Given the description of an element on the screen output the (x, y) to click on. 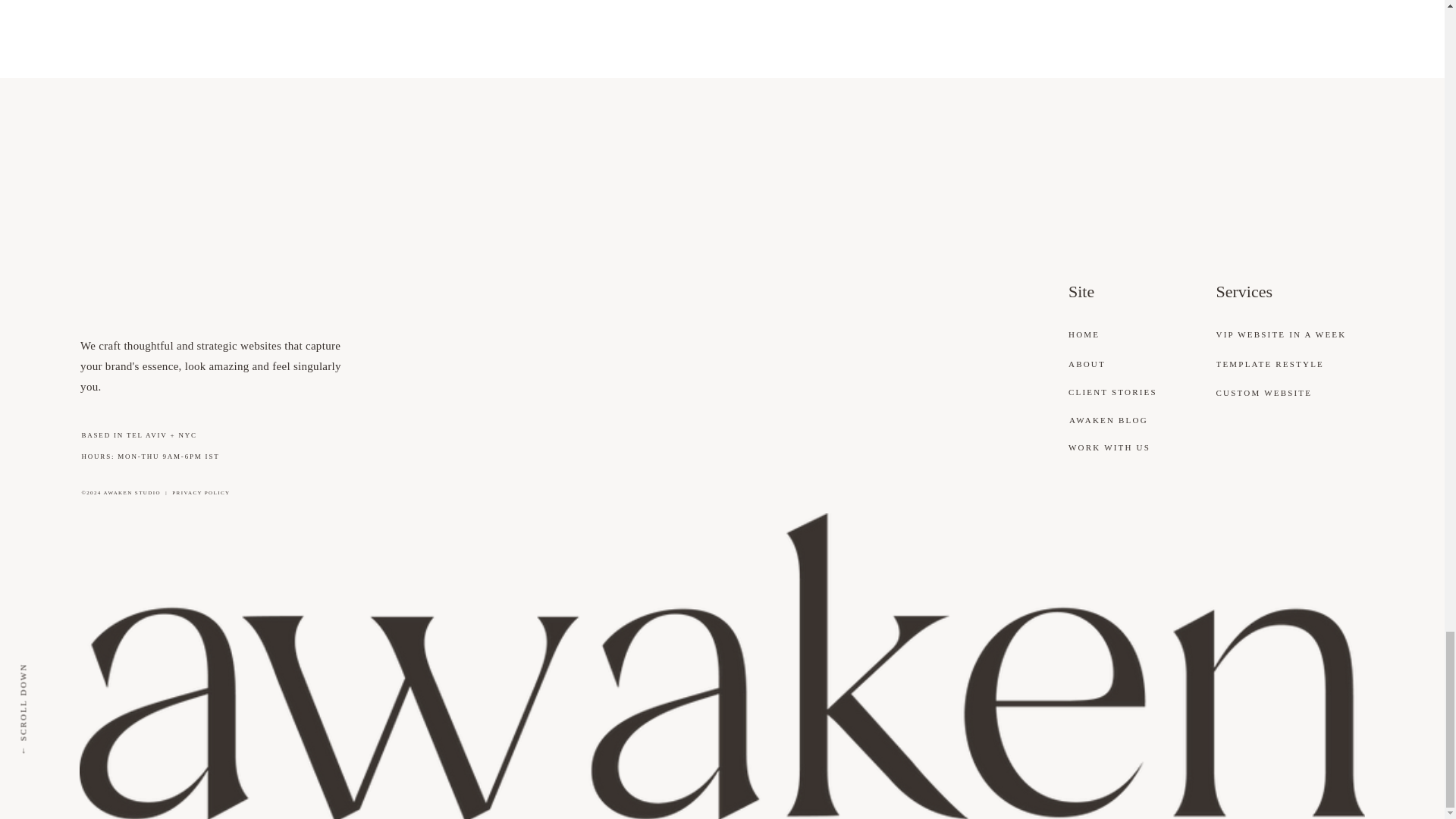
ABOUT (1100, 364)
VIP WEBSITE IN A WEEK (1292, 335)
AWAKEN BLOG (1122, 421)
CUSTOM WEBSITE (1292, 393)
TEMPLATE RESTYLE (1292, 364)
HOME (1100, 335)
WORK WITH US (1122, 448)
CLIENT STORIES (1122, 393)
